Given the description of an element on the screen output the (x, y) to click on. 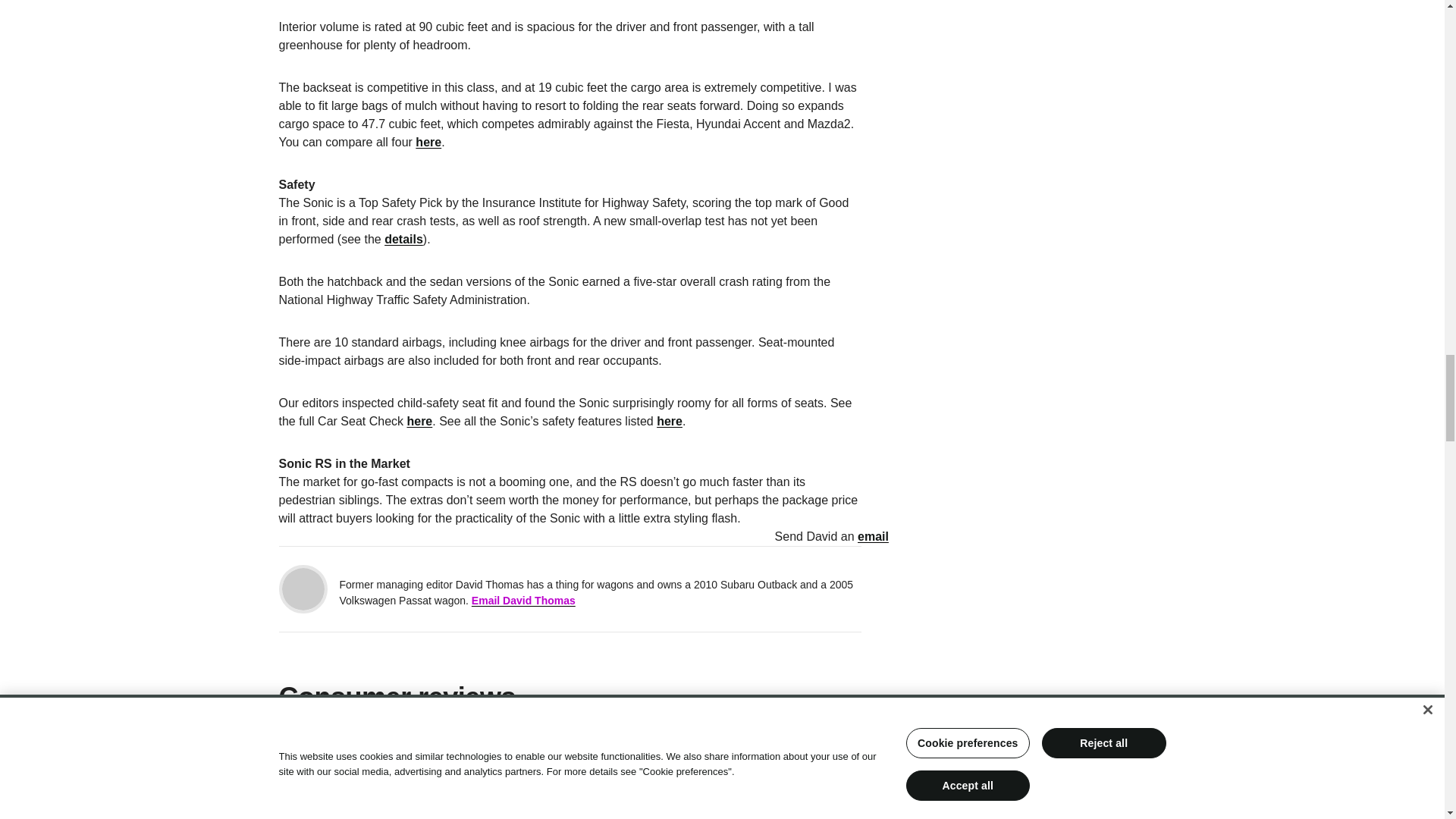
details (403, 238)
Email David Thomas (523, 600)
here (669, 420)
email (872, 535)
here (419, 420)
here (427, 141)
